Given the description of an element on the screen output the (x, y) to click on. 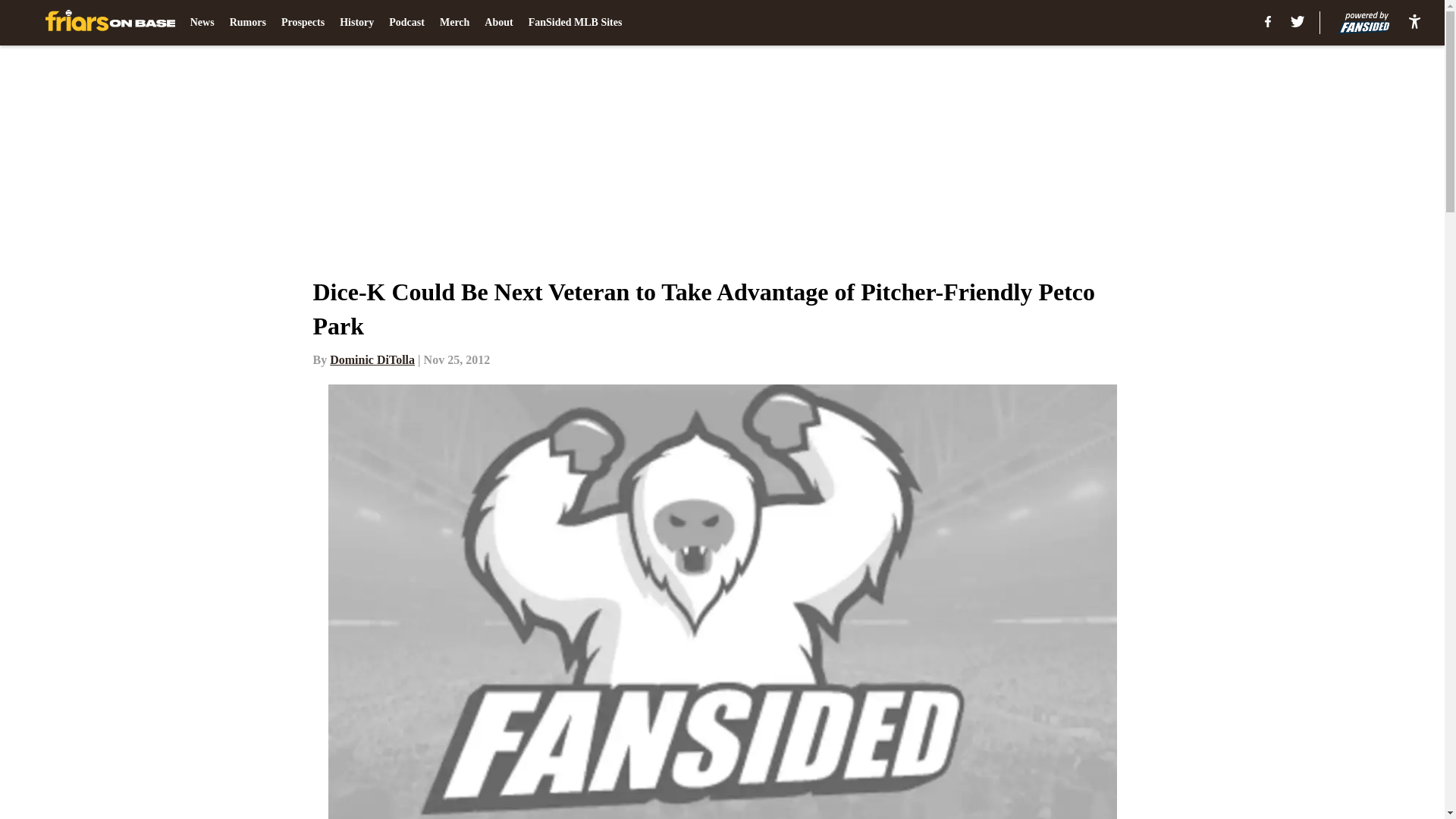
Rumors (248, 22)
About (498, 22)
History (356, 22)
FanSided MLB Sites (575, 22)
Podcast (406, 22)
Dominic DiTolla (372, 359)
News (202, 22)
Merch (453, 22)
Prospects (302, 22)
